Given the description of an element on the screen output the (x, y) to click on. 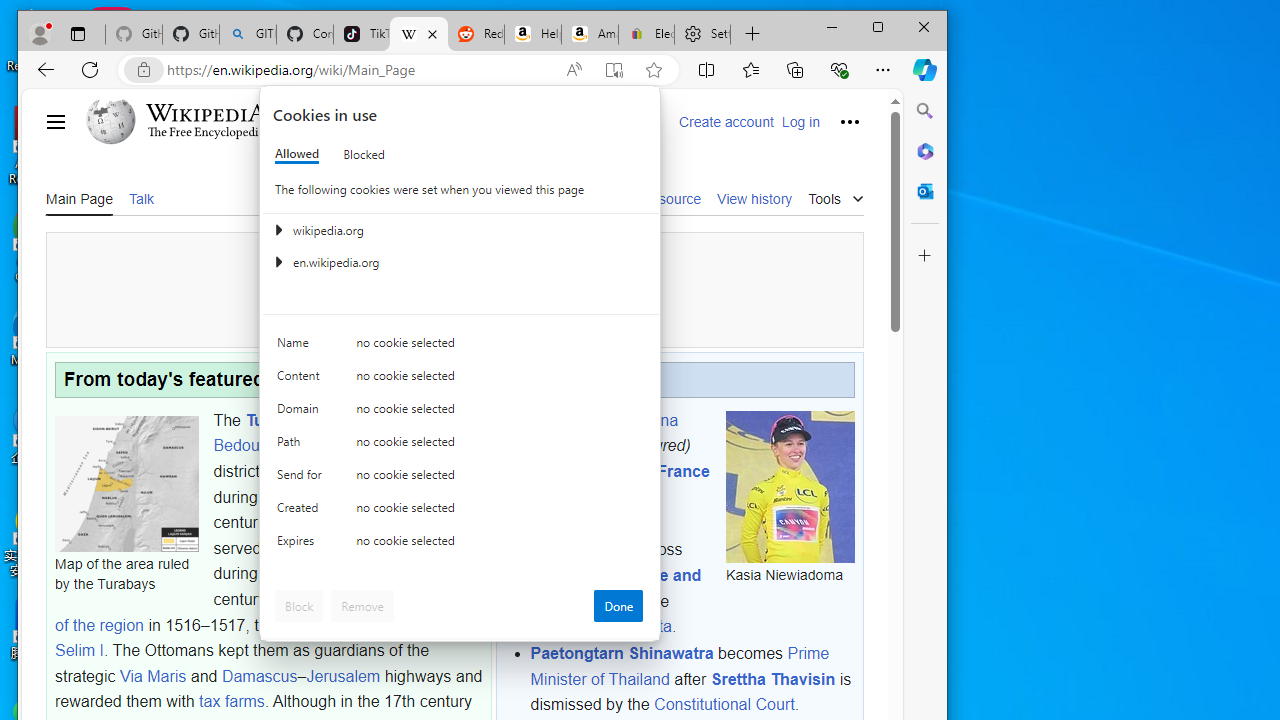
Expires (302, 544)
Domain (302, 413)
Created (302, 511)
Name (302, 346)
Class: c0153 c0157 c0154 (460, 347)
Done (617, 605)
Remove (362, 605)
Send for (302, 479)
Path (302, 446)
Content (302, 380)
Block (299, 605)
Class: c0153 c0157 (460, 545)
no cookie selected (500, 544)
Allowed (296, 153)
Blocked (363, 153)
